Given the description of an element on the screen output the (x, y) to click on. 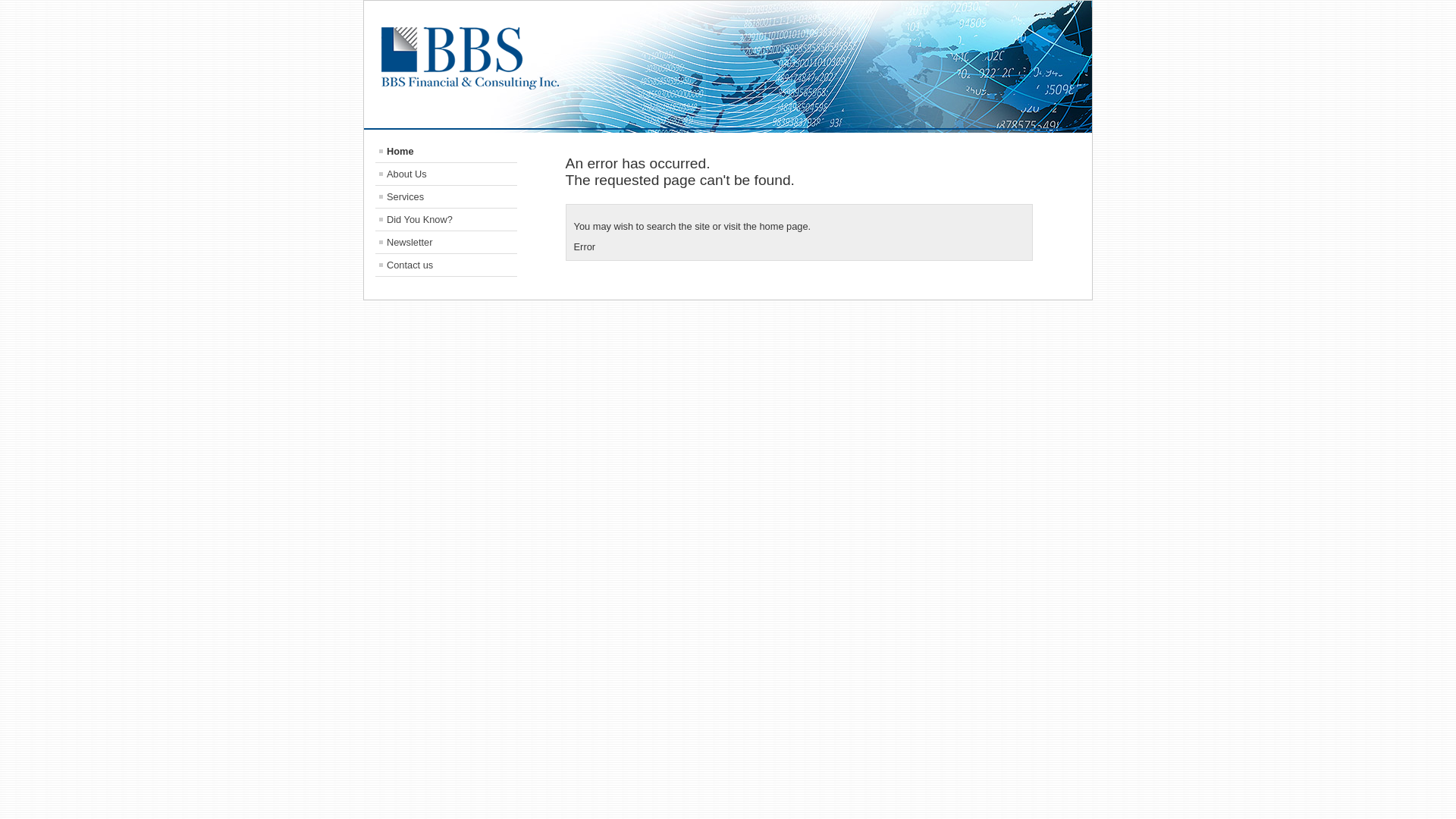
Services Element type: text (446, 196)
Contact us Element type: text (446, 265)
About Us Element type: text (446, 174)
Home Element type: text (446, 151)
Did You Know? Element type: text (446, 219)
Newsletter Element type: text (446, 242)
